Given the description of an element on the screen output the (x, y) to click on. 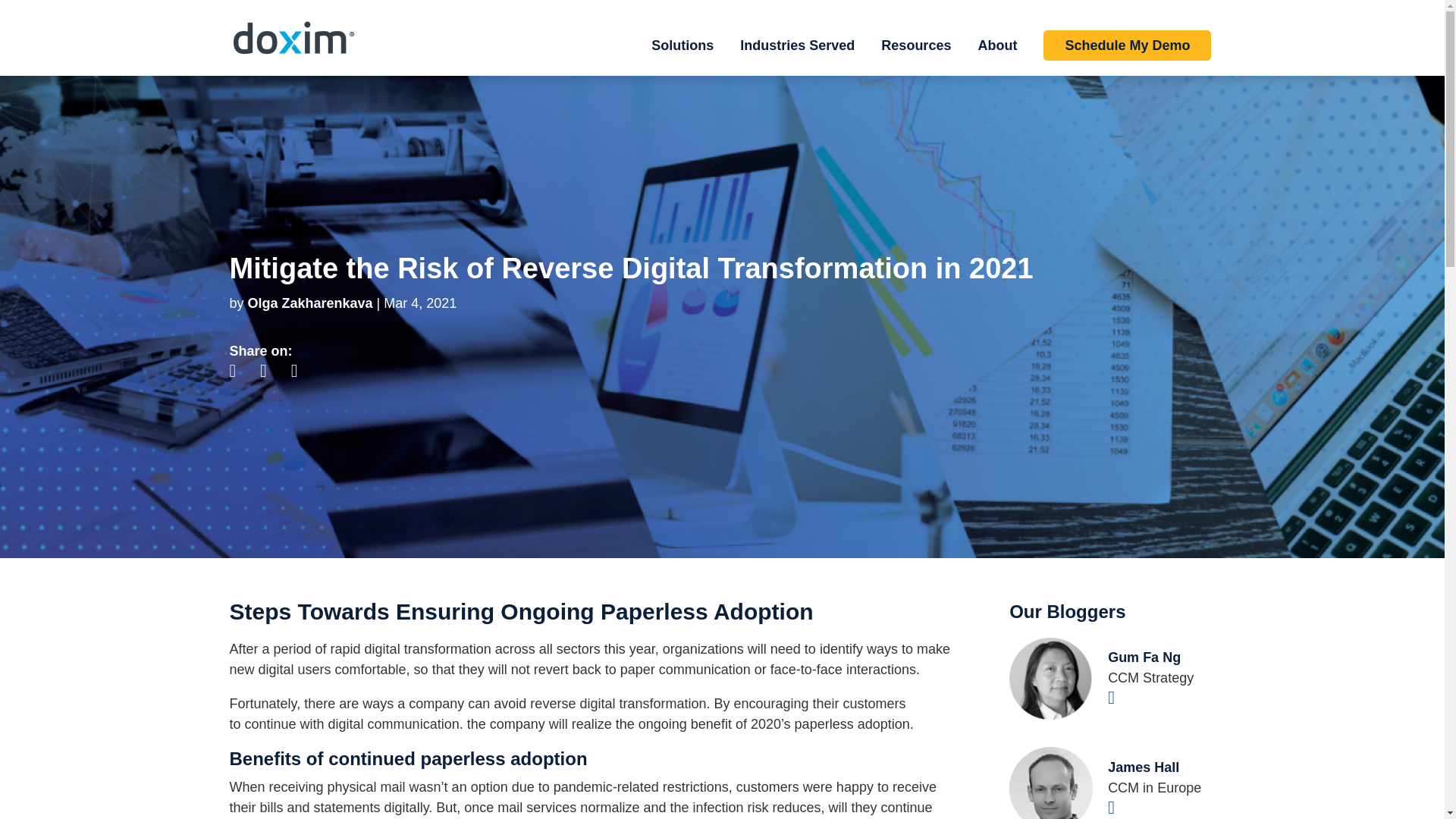
Solutions (681, 58)
Posts by Olga Zakharenkava (309, 303)
Industries Served (796, 58)
About (996, 58)
Resources (915, 58)
